Given the description of an element on the screen output the (x, y) to click on. 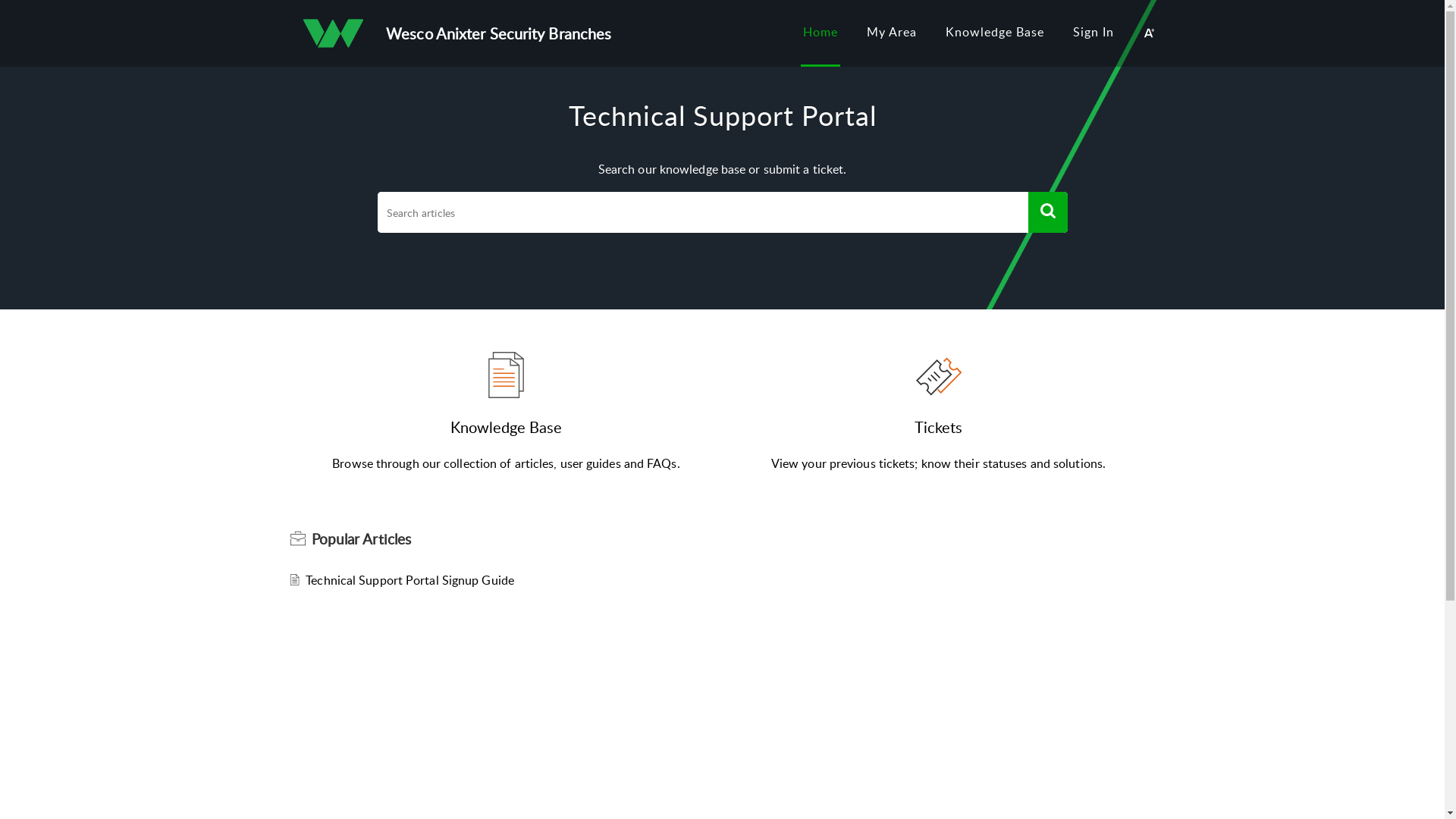
Home Element type: text (820, 31)
Search Element type: hover (1047, 211)
Tickets Element type: text (938, 426)
Knowledge Base Element type: text (505, 426)
My Area Element type: text (891, 31)
Knowledge Base Element type: text (994, 31)
Sign In Element type: text (1093, 31)
Technical Support Portal Signup Guide Element type: text (409, 579)
